Given the description of an element on the screen output the (x, y) to click on. 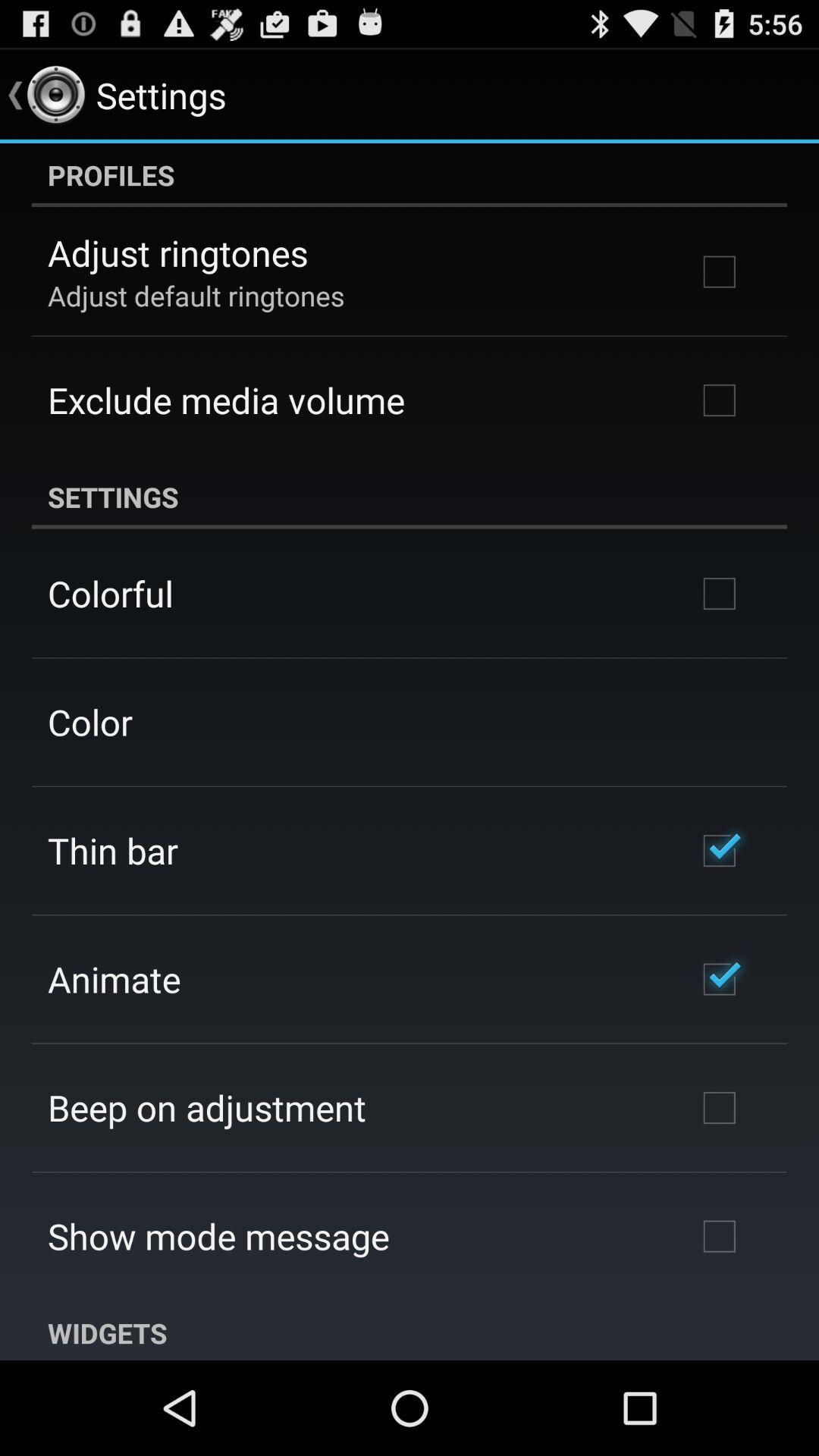
launch item above the show mode message item (206, 1107)
